Given the description of an element on the screen output the (x, y) to click on. 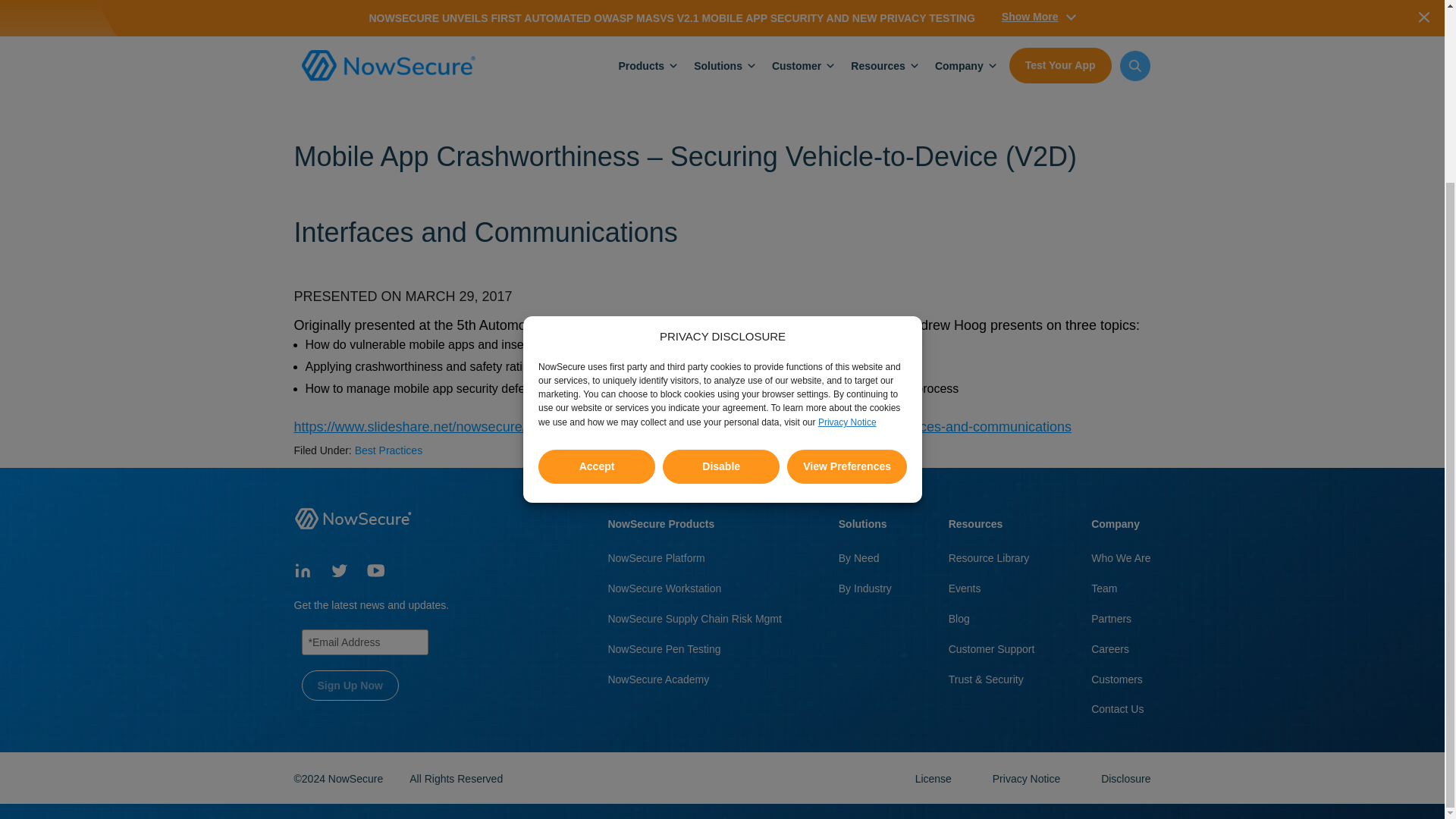
Disable (720, 454)
Accept (596, 486)
Disclosure (1125, 778)
License (935, 778)
Privacy Notice (846, 623)
View Preferences (847, 426)
Privacy Notice (1027, 778)
